Given the description of an element on the screen output the (x, y) to click on. 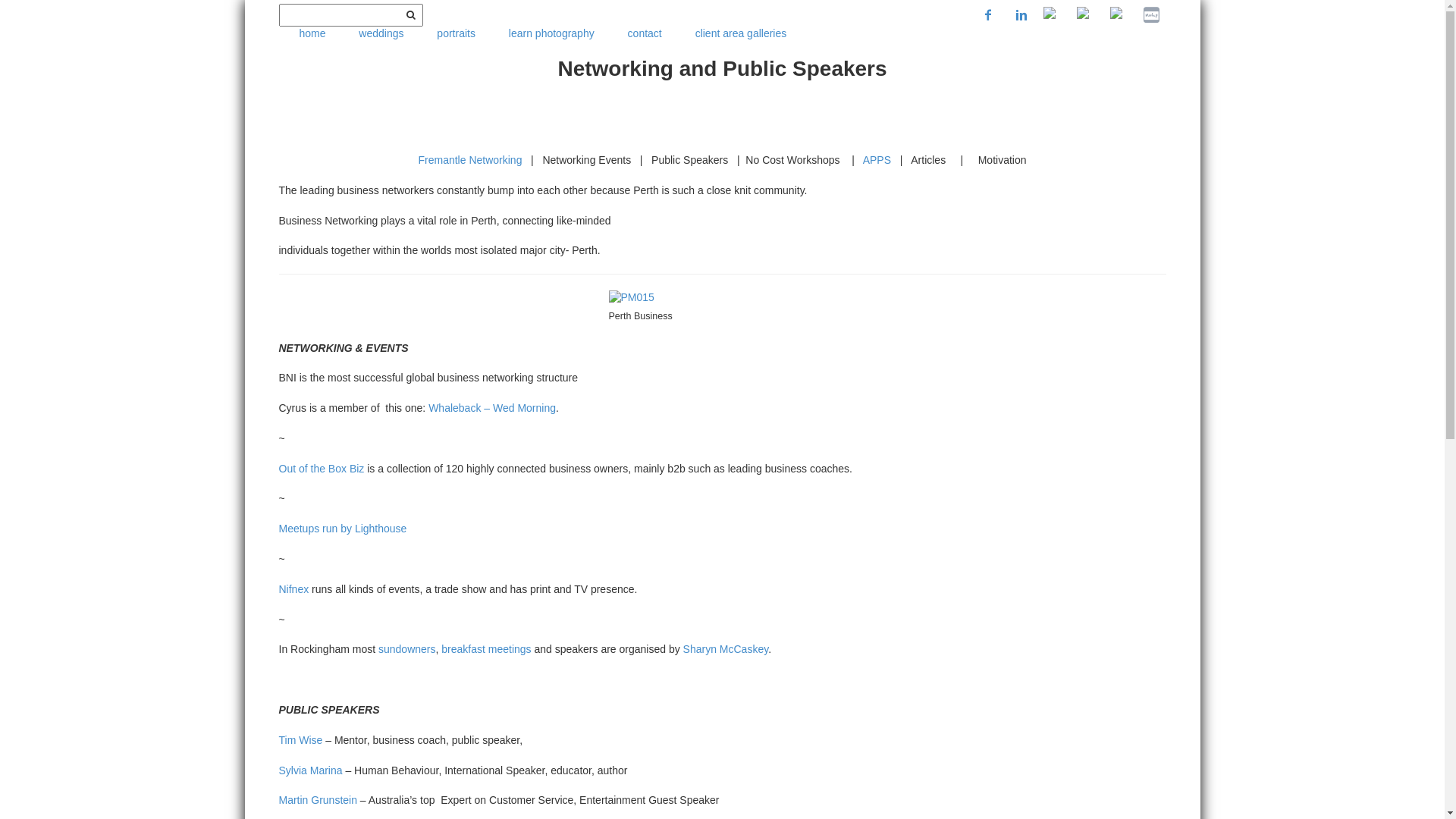
home Element type: text (311, 34)
Martin Grunstein Element type: text (318, 799)
Fremantle Networking Element type: text (470, 159)
facebook Element type: text (987, 14)
Sylvia Marina Element type: text (310, 770)
sundowners Element type: text (407, 649)
Nifnex Element type: text (294, 589)
learn photography Element type: text (551, 34)
breakfast meetings Element type: text (485, 649)
Tim Wise Element type: text (301, 740)
client area galleries Element type: text (741, 34)
linkedin Element type: text (1021, 14)
APPS Element type: text (876, 159)
Sharyn McCaskey Element type: text (725, 649)
portraits Element type: text (455, 34)
contact Element type: text (644, 34)
weddings Element type: text (380, 34)
Search Element type: text (411, 15)
Out of the Box Biz Element type: text (321, 468)
Meetups run by Lighthouse Element type: text (343, 528)
